Given the description of an element on the screen output the (x, y) to click on. 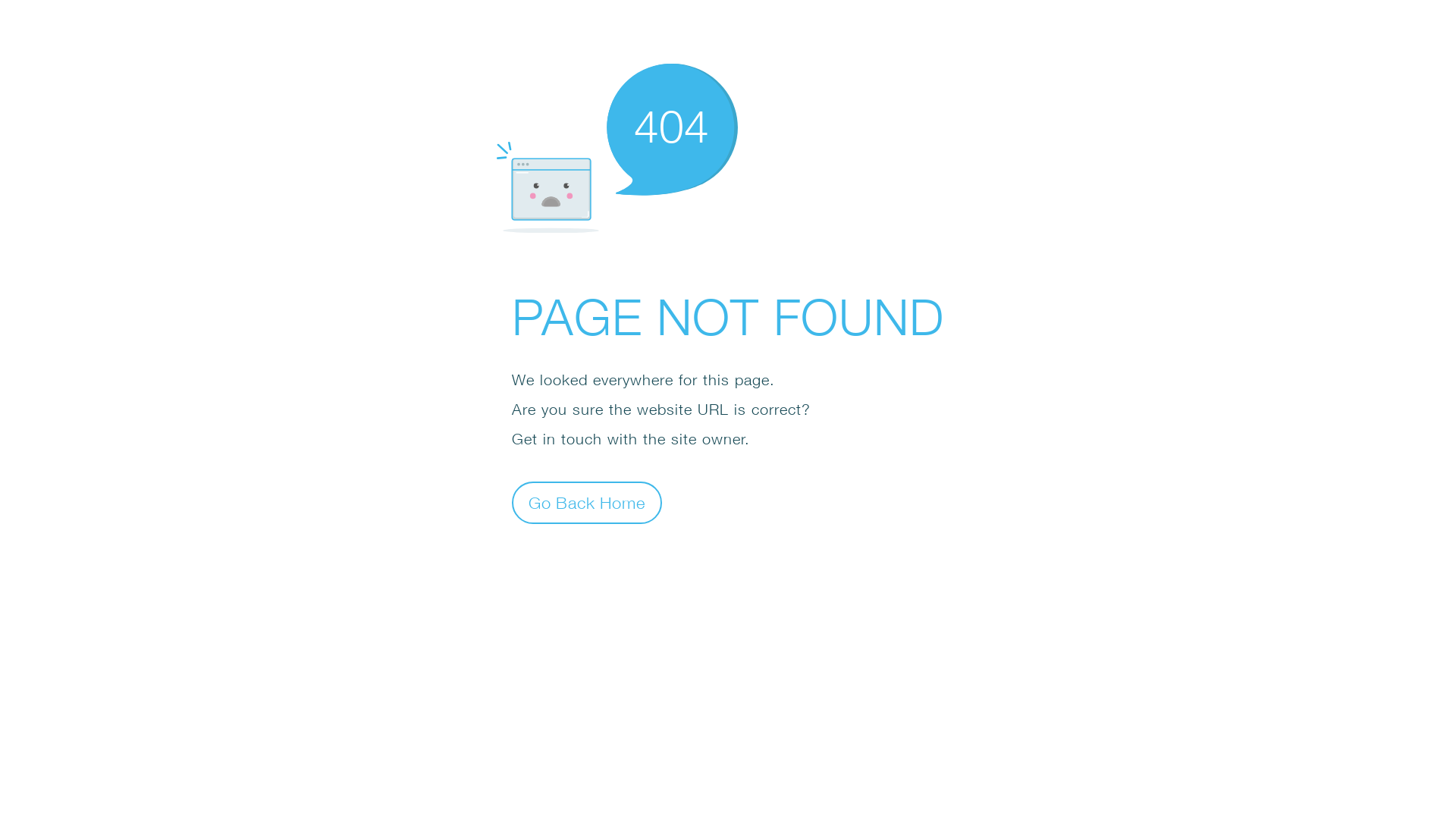
Go Back Home Element type: text (586, 502)
